Given the description of an element on the screen output the (x, y) to click on. 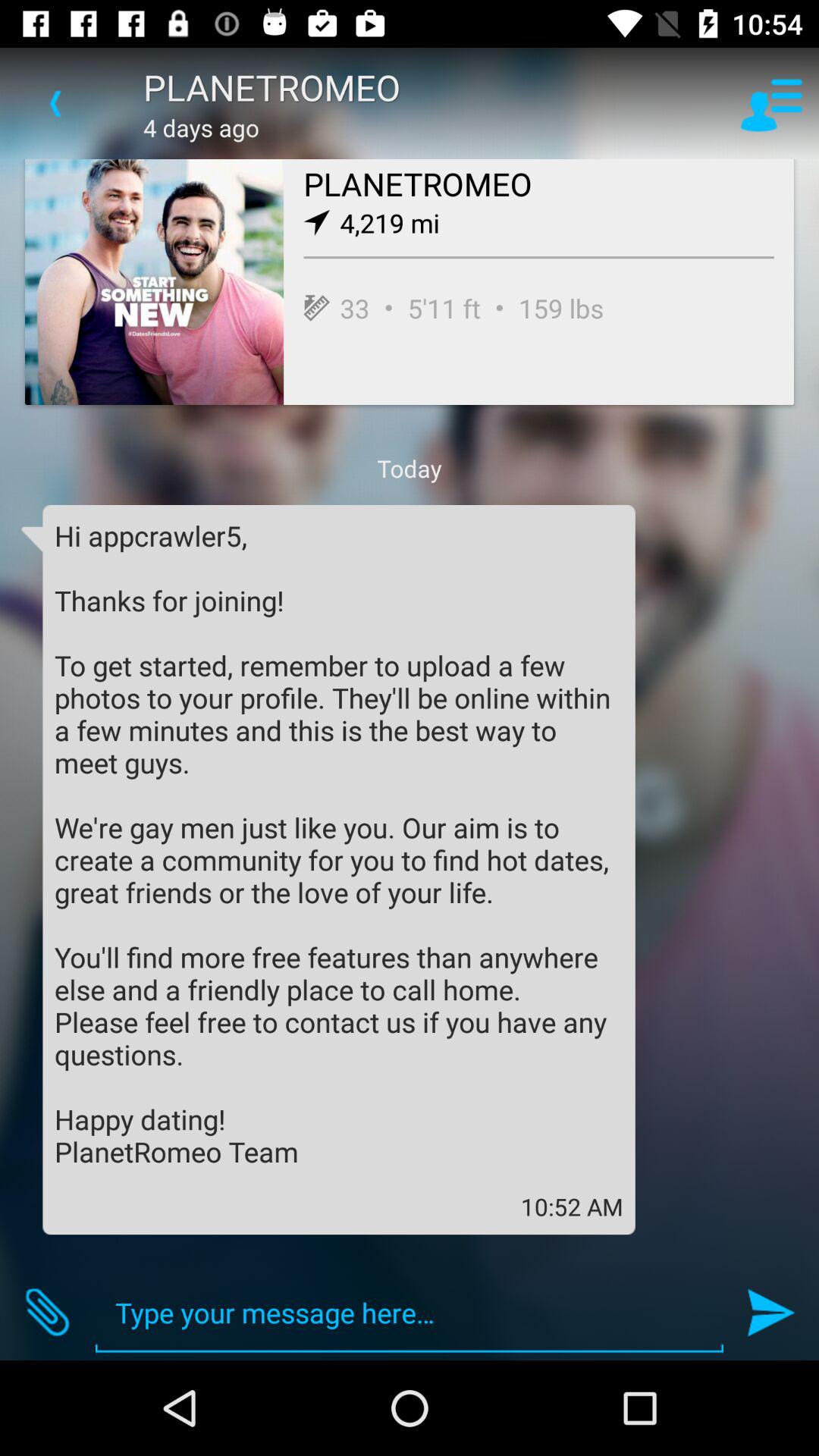
press icon above the 10:52 am icon (338, 843)
